Given the description of an element on the screen output the (x, y) to click on. 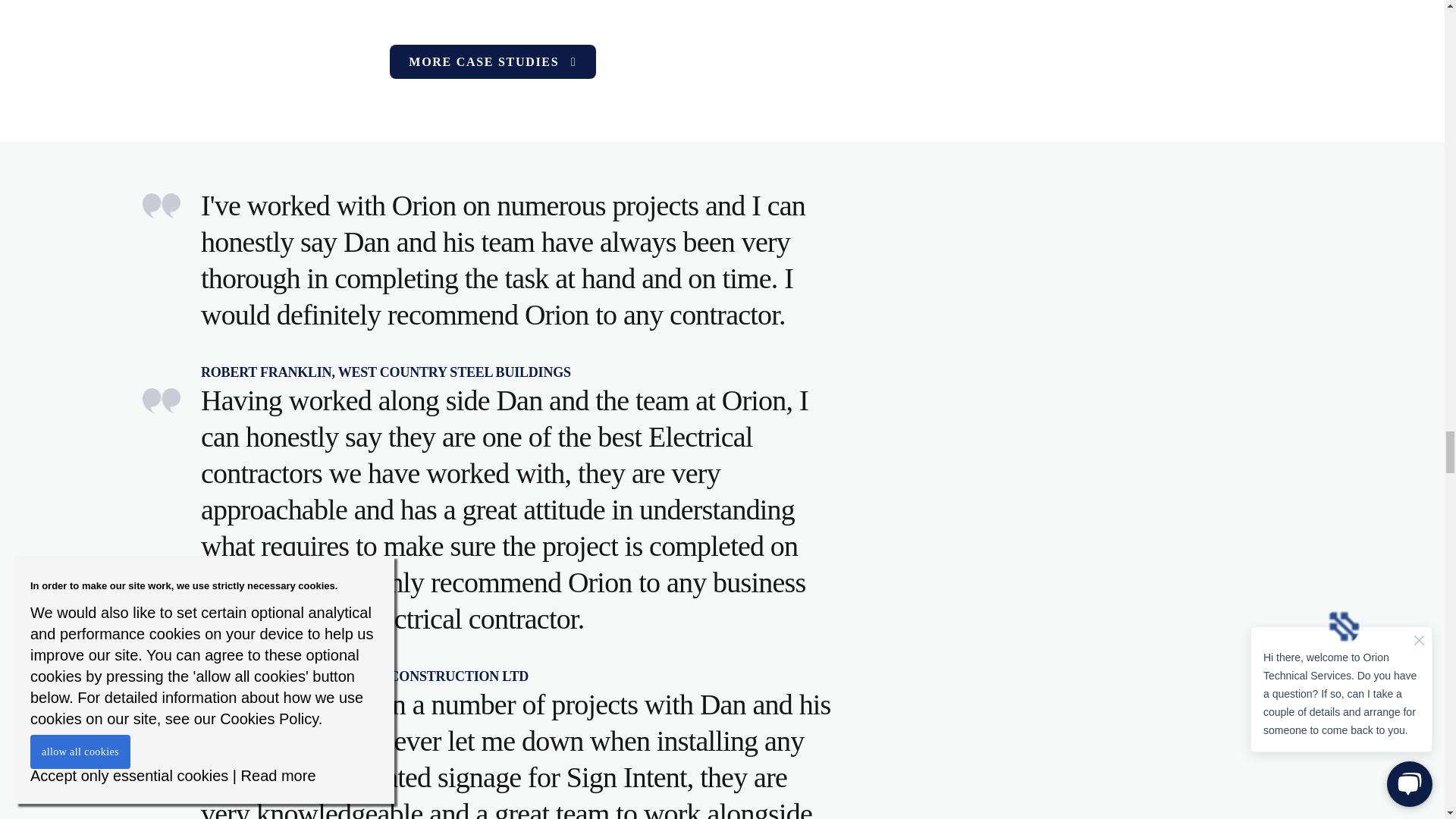
MORE CASE STUDIES (492, 61)
